Given the description of an element on the screen output the (x, y) to click on. 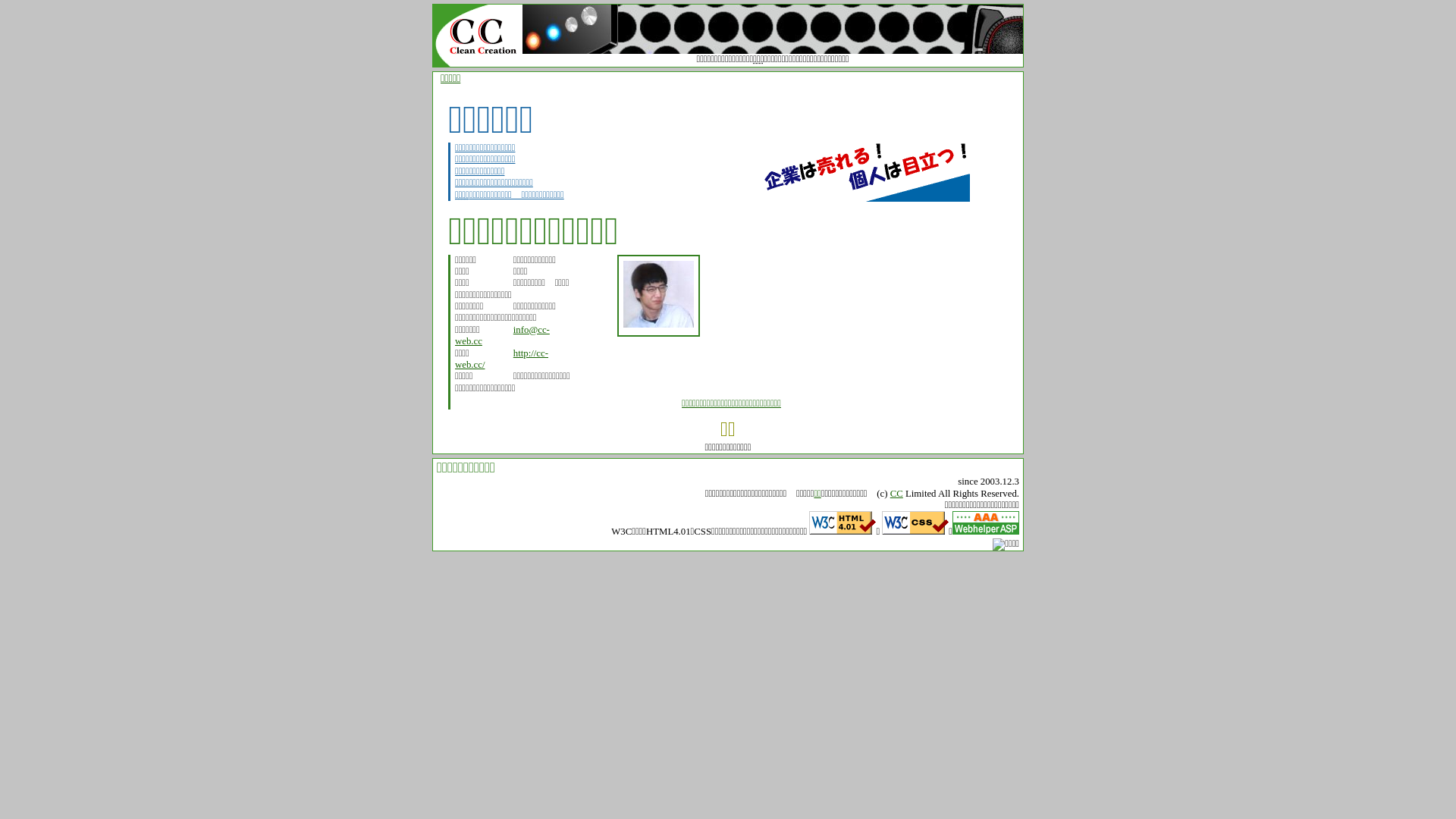
CC Element type: text (896, 493)
http://cc-web.cc/ Element type: text (501, 359)
info@cc-web.cc Element type: text (502, 335)
